Given the description of an element on the screen output the (x, y) to click on. 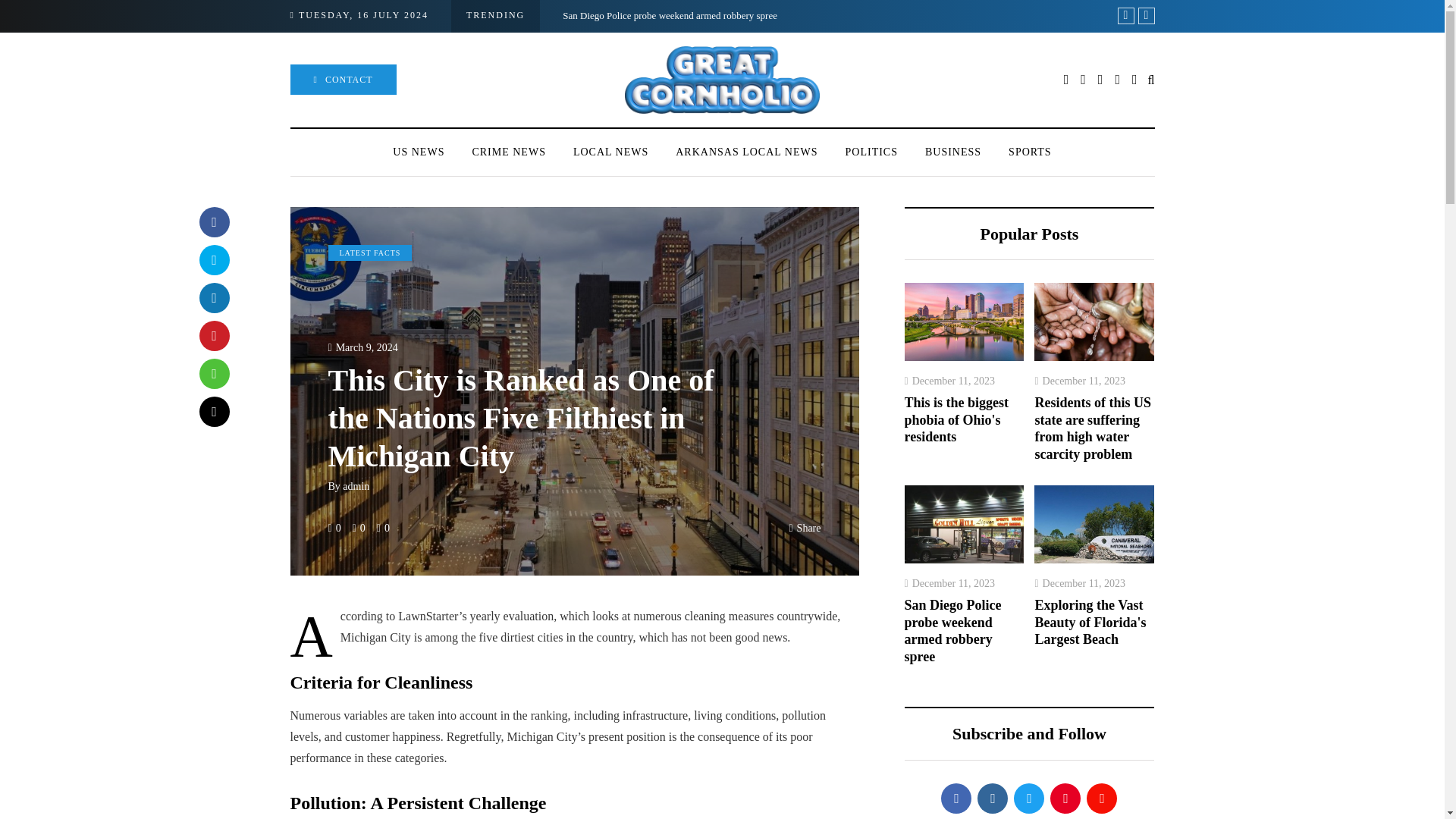
ARKANSAS LOCAL NEWS (746, 152)
Share with Facebook (213, 222)
Share to WhatsApp (213, 373)
SPORTS (1029, 152)
Share with LinkedIn (213, 297)
CONTACT (342, 79)
CRIME NEWS (508, 152)
Posts by admin (355, 486)
POLITICS (871, 152)
Pin this (213, 336)
US NEWS (418, 152)
Tweet this (213, 259)
LOCAL NEWS (610, 152)
BUSINESS (952, 152)
Share by Email (213, 411)
